Given the description of an element on the screen output the (x, y) to click on. 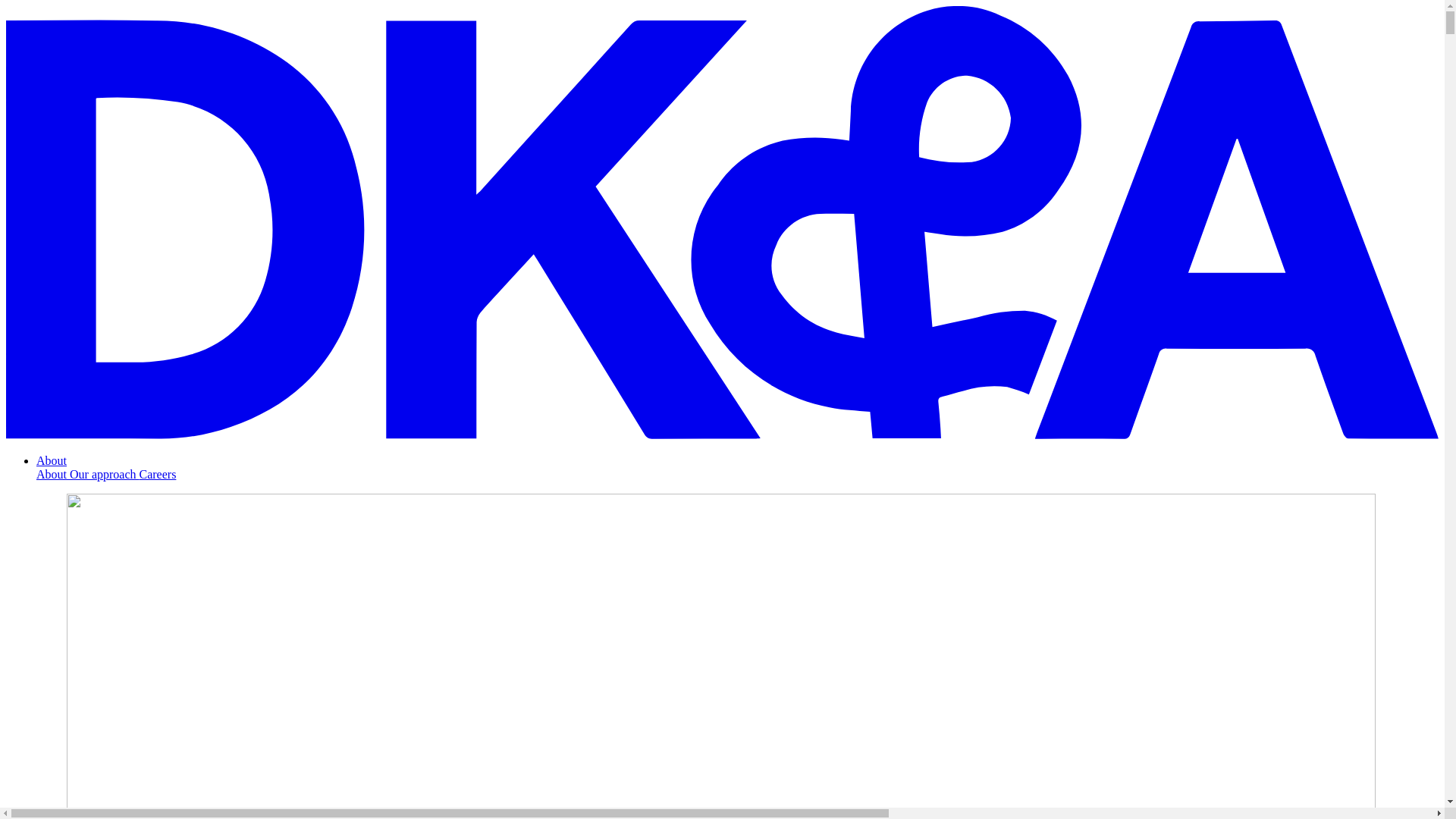
About (51, 460)
Careers (157, 473)
About (52, 473)
Our approach (104, 473)
